Given the description of an element on the screen output the (x, y) to click on. 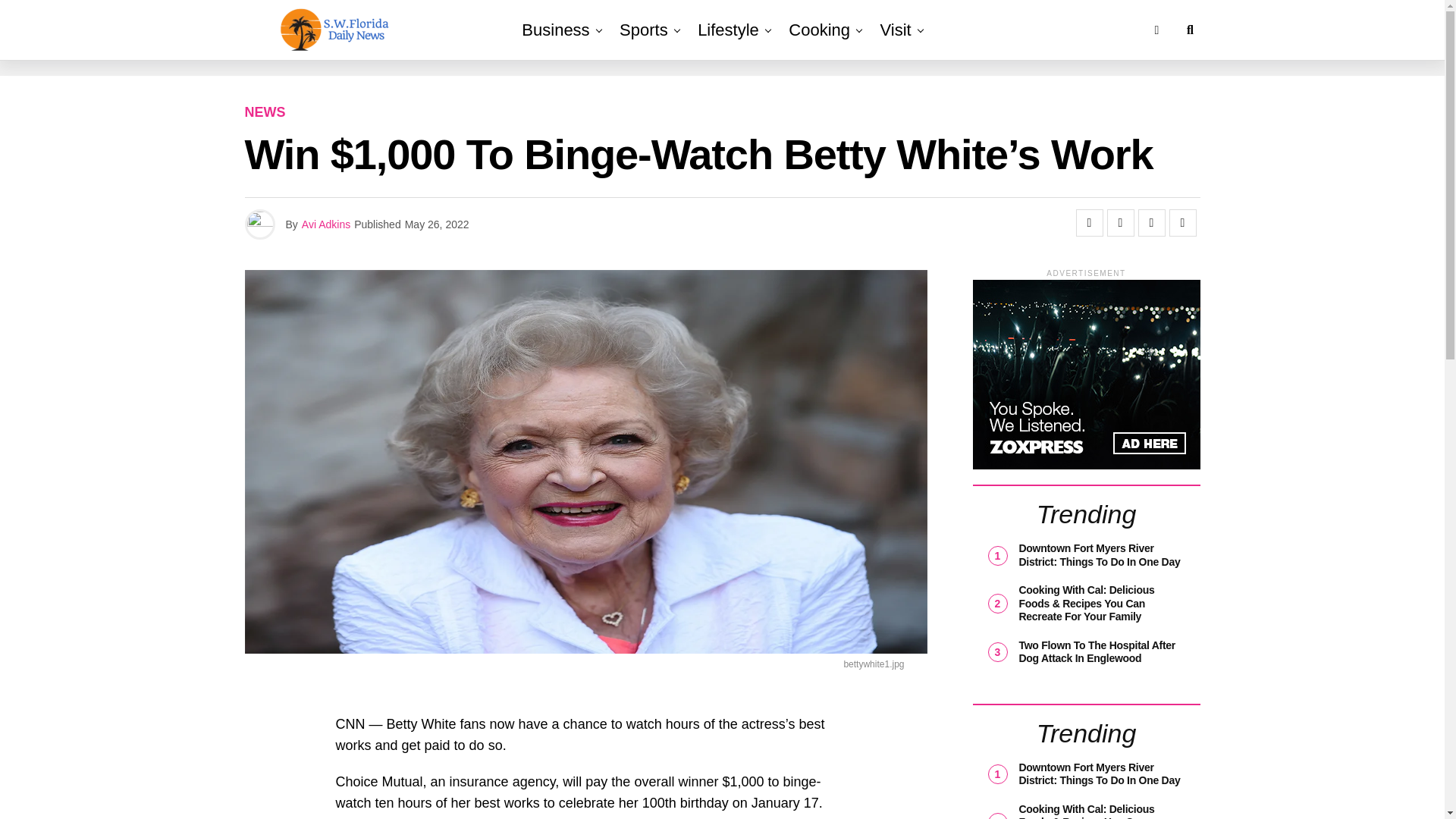
Business (554, 30)
Sports (643, 30)
Share on Facebook (1088, 222)
Cooking (818, 30)
Lifestyle (728, 30)
Posts by Avi Adkins (325, 224)
Tweet This Post (1120, 222)
